Given the description of an element on the screen output the (x, y) to click on. 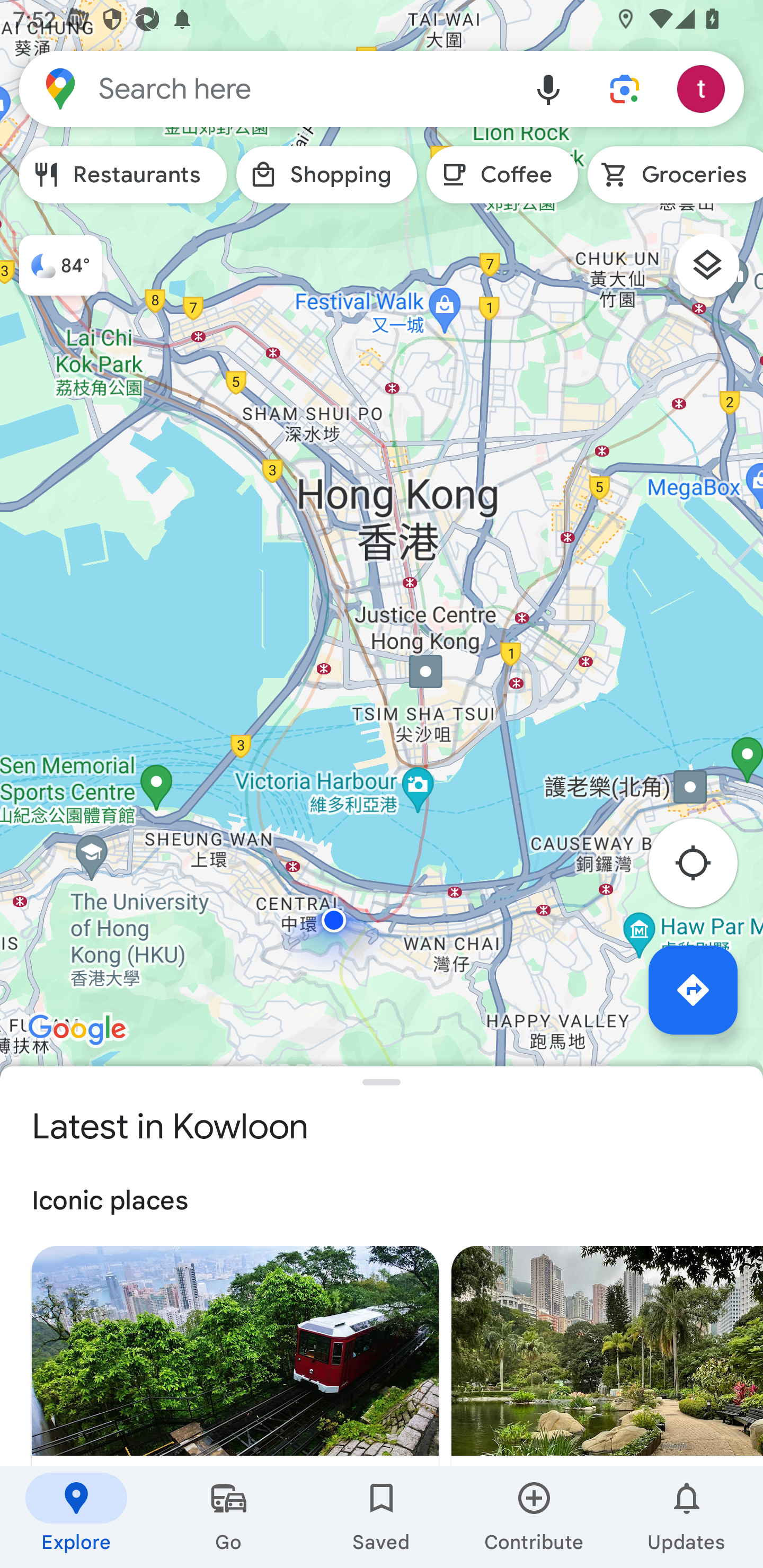
Search here (264, 88)
Voice search (548, 88)
Lens in Maps (624, 88)
Account and settings. (703, 88)
Restaurants Search for Restaurants (122, 174)
Shopping Search for Shopping (326, 174)
Coffee Search for Coffee (502, 174)
Groceries Search for Groceries (675, 174)
Clear with periodic clouds, 84° 84° (50, 257)
Layers (716, 271)
Re-center map to your location (702, 868)
Directions (692, 989)
Iconic places (381, 1200)
Go (228, 1517)
Saved (381, 1517)
Contribute (533, 1517)
Updates (686, 1517)
